Given the description of an element on the screen output the (x, y) to click on. 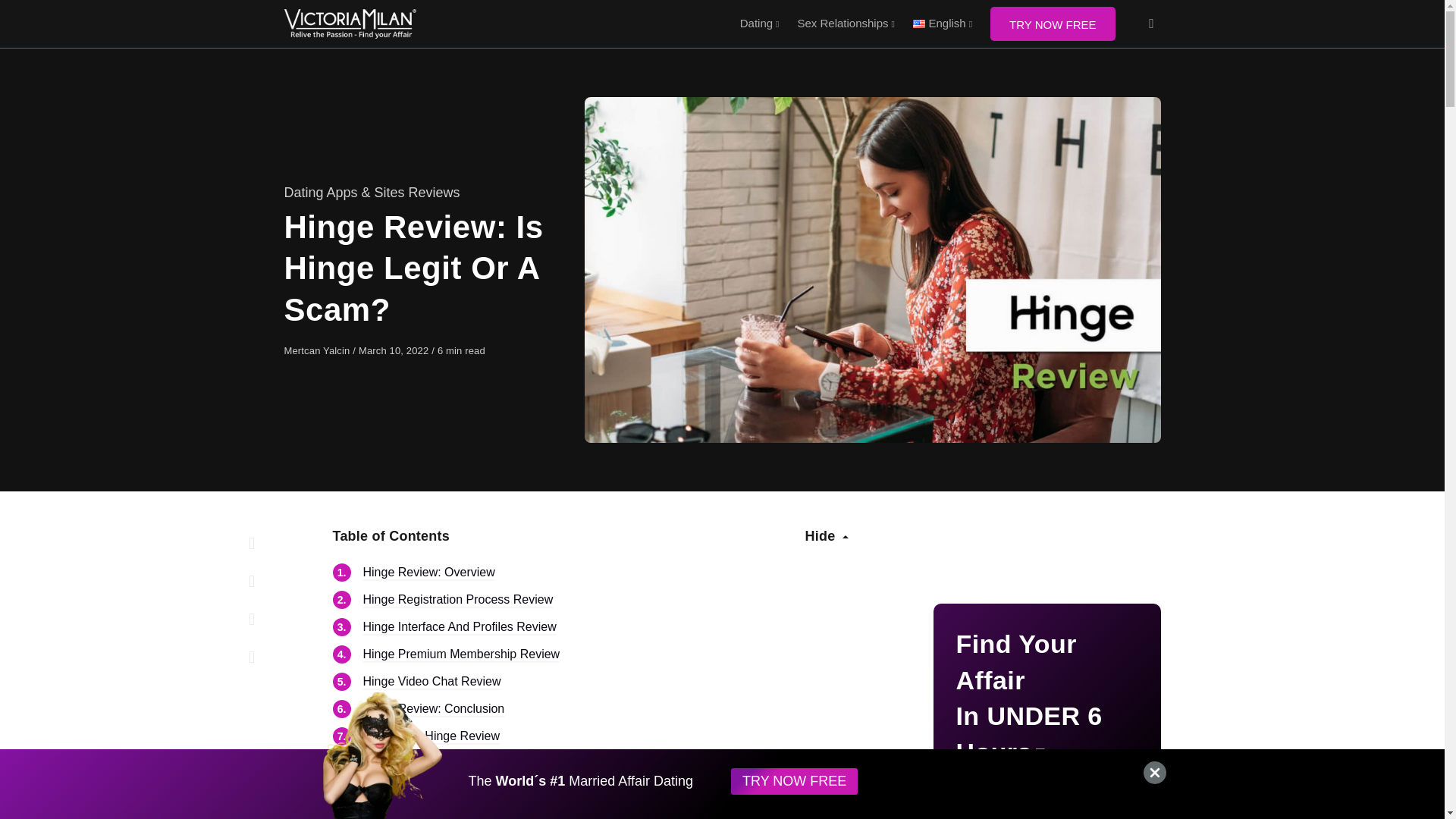
Mertcan Yalcin (317, 350)
Hinge Interface And Profiles Review (459, 627)
Hinge Premium Membership Review (460, 654)
Hinge Review: Overview (428, 572)
March 10, 2022 (394, 350)
Is Hinge a Good Dating Site? (461, 766)
English (942, 23)
March 10, 2022 (394, 350)
Is Hinge A Hookup App? (449, 790)
on (6, 810)
Hinge Registration Process Review (457, 600)
Hinge Review: Conclusion (432, 709)
Hinge Video Chat Review (431, 682)
FAQ About Hinge Review (430, 736)
